Given the description of an element on the screen output the (x, y) to click on. 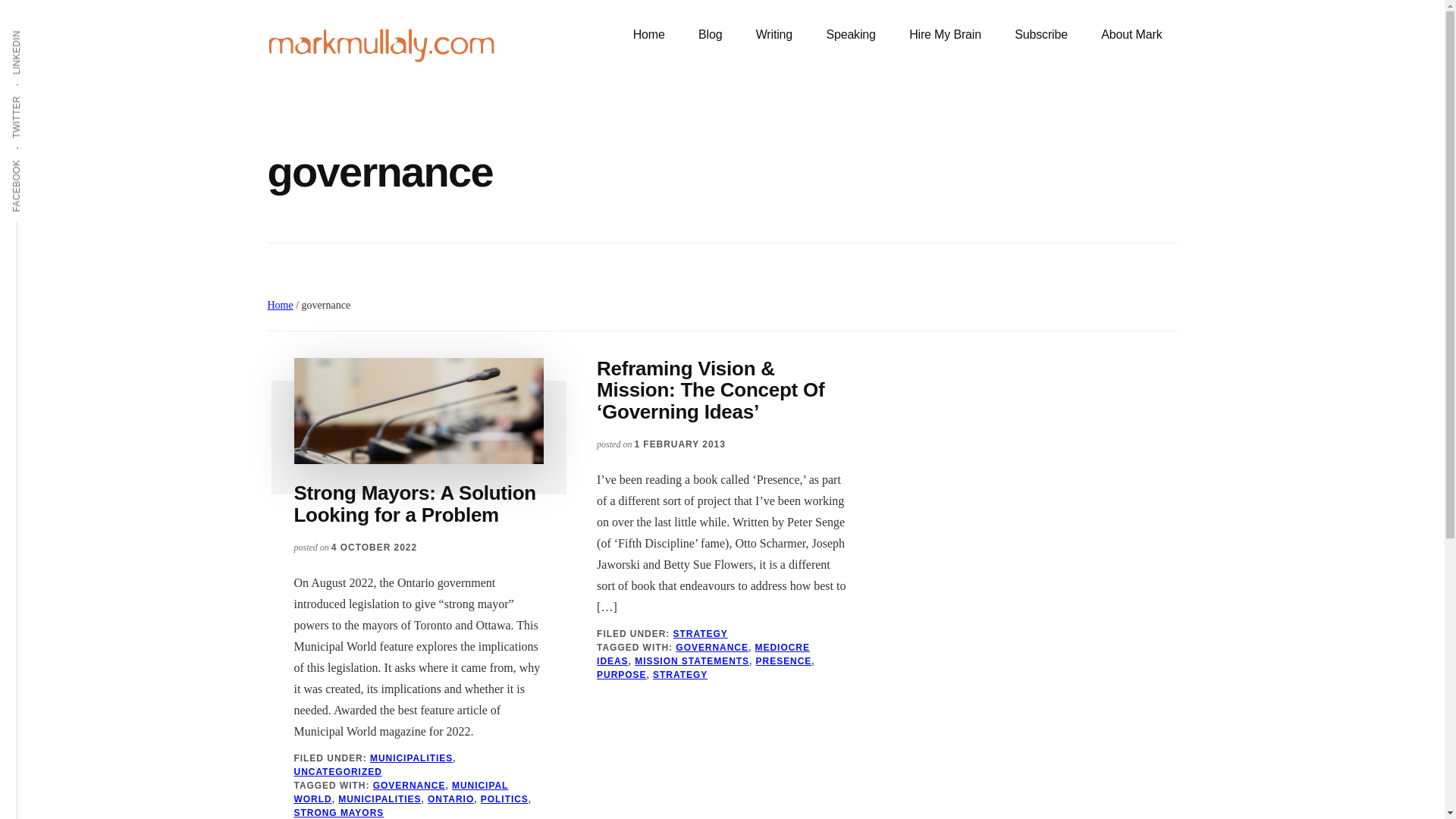
FACEBOOK (44, 158)
TWITTER (38, 94)
Speaking (849, 34)
Blog (709, 34)
Writing (774, 34)
Home (648, 34)
LINKEDIN (39, 28)
